Given the description of an element on the screen output the (x, y) to click on. 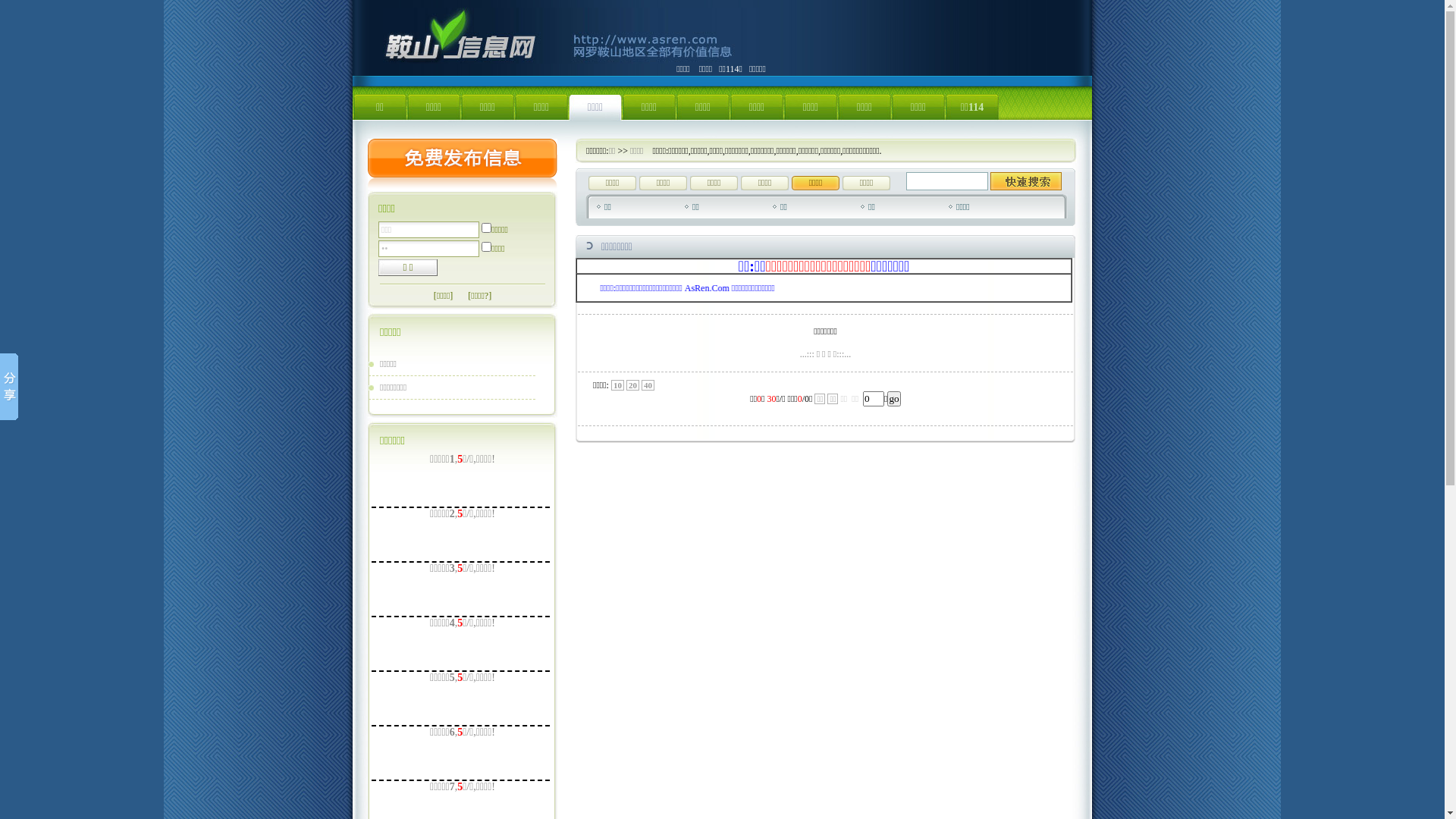
20 Element type: text (632, 384)
go Element type: text (893, 398)
40 Element type: text (647, 384)
10 Element type: text (617, 384)
